Given the description of an element on the screen output the (x, y) to click on. 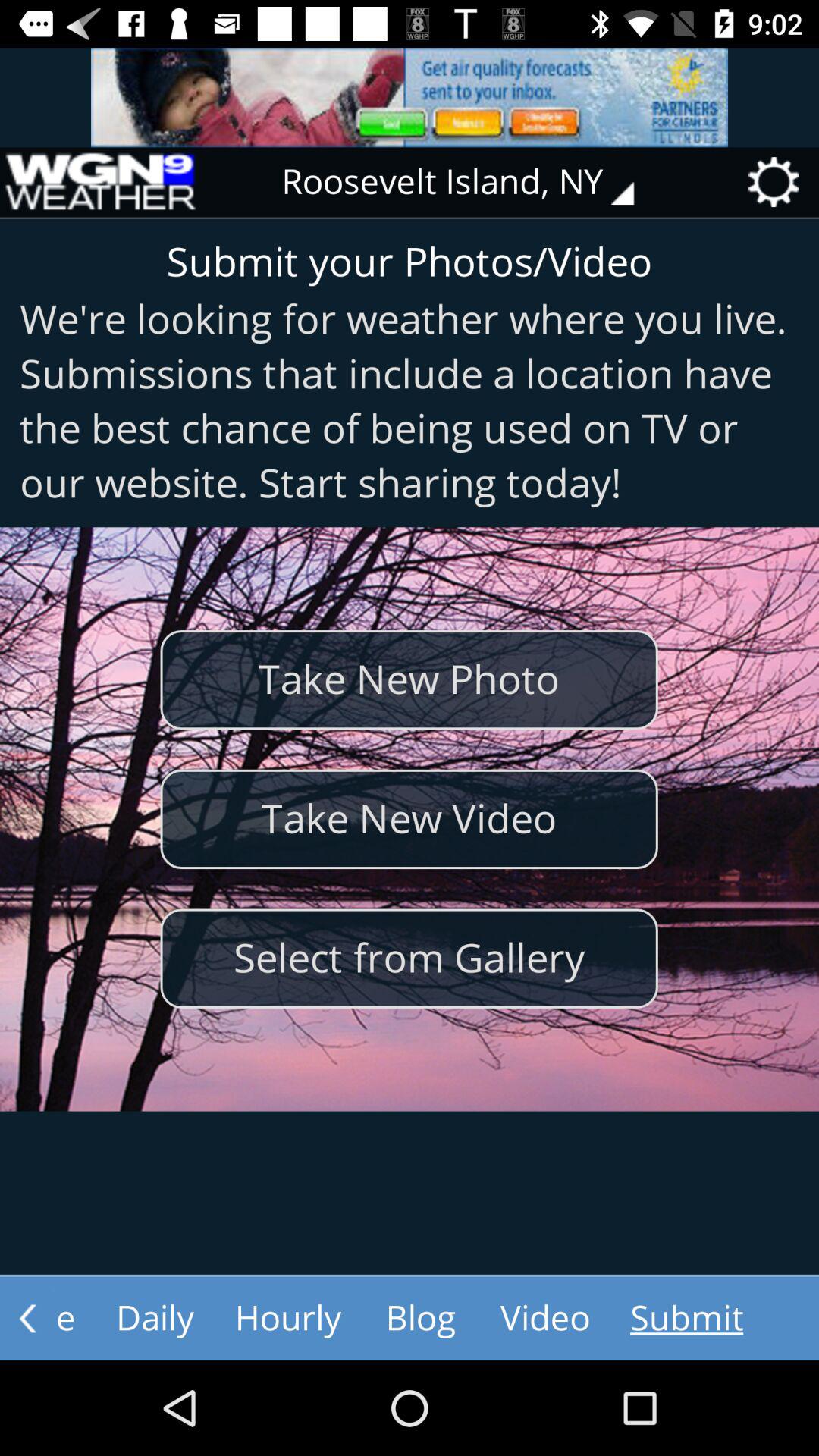
select the roosevelt island, ny (468, 182)
